Given the description of an element on the screen output the (x, y) to click on. 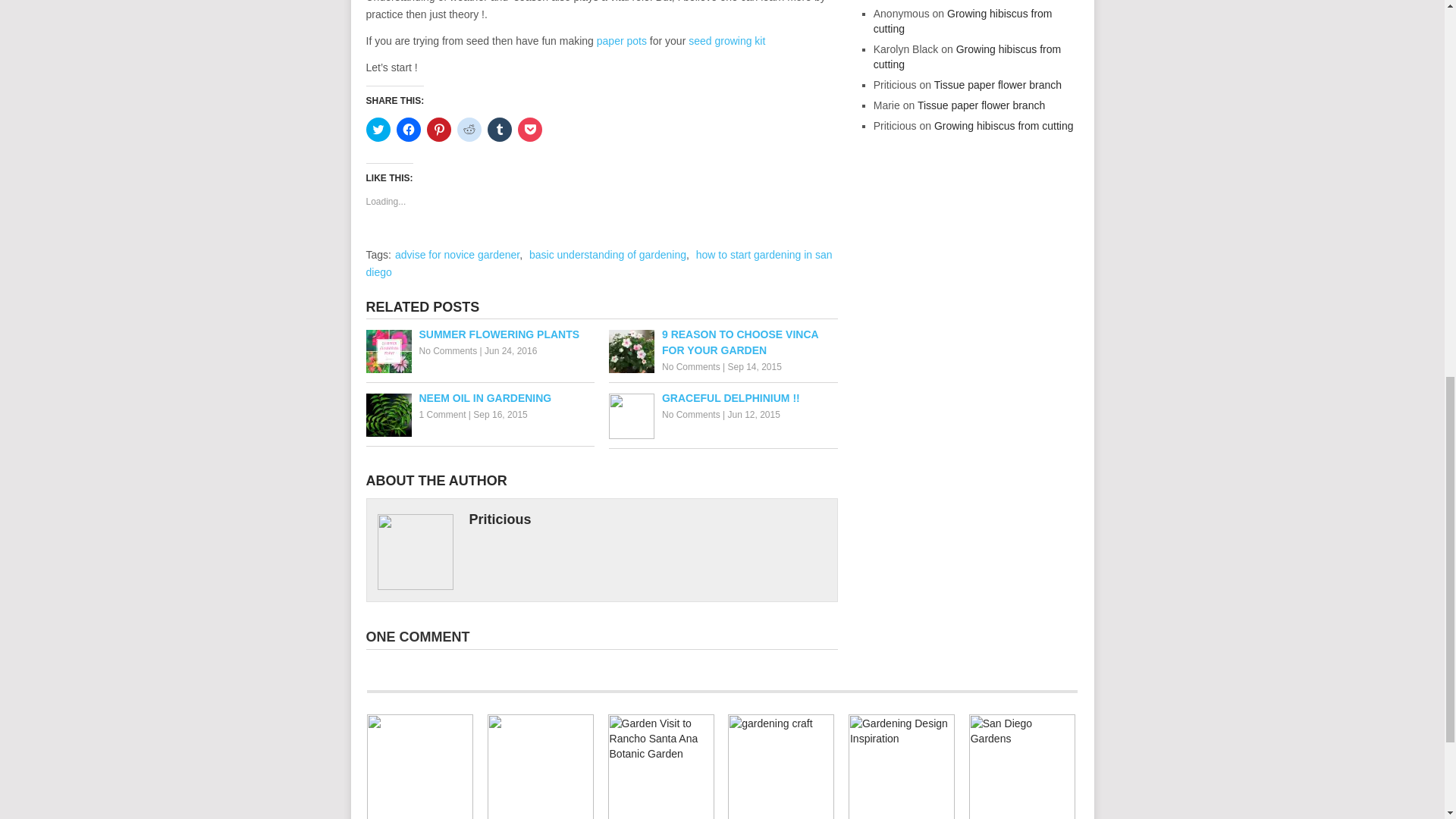
basic understanding of gardening (607, 254)
Neem Oil In Gardening (479, 398)
Click to share on Facebook (408, 129)
paper pots (621, 40)
1 Comment (442, 414)
GRACEFUL DELPHINIUM !! (723, 398)
NEEM OIL IN GARDENING (479, 398)
how to start gardening in san diego (598, 263)
9 reason to choose Vinca for your garden (723, 342)
Summer flowering plants (479, 334)
